Given the description of an element on the screen output the (x, y) to click on. 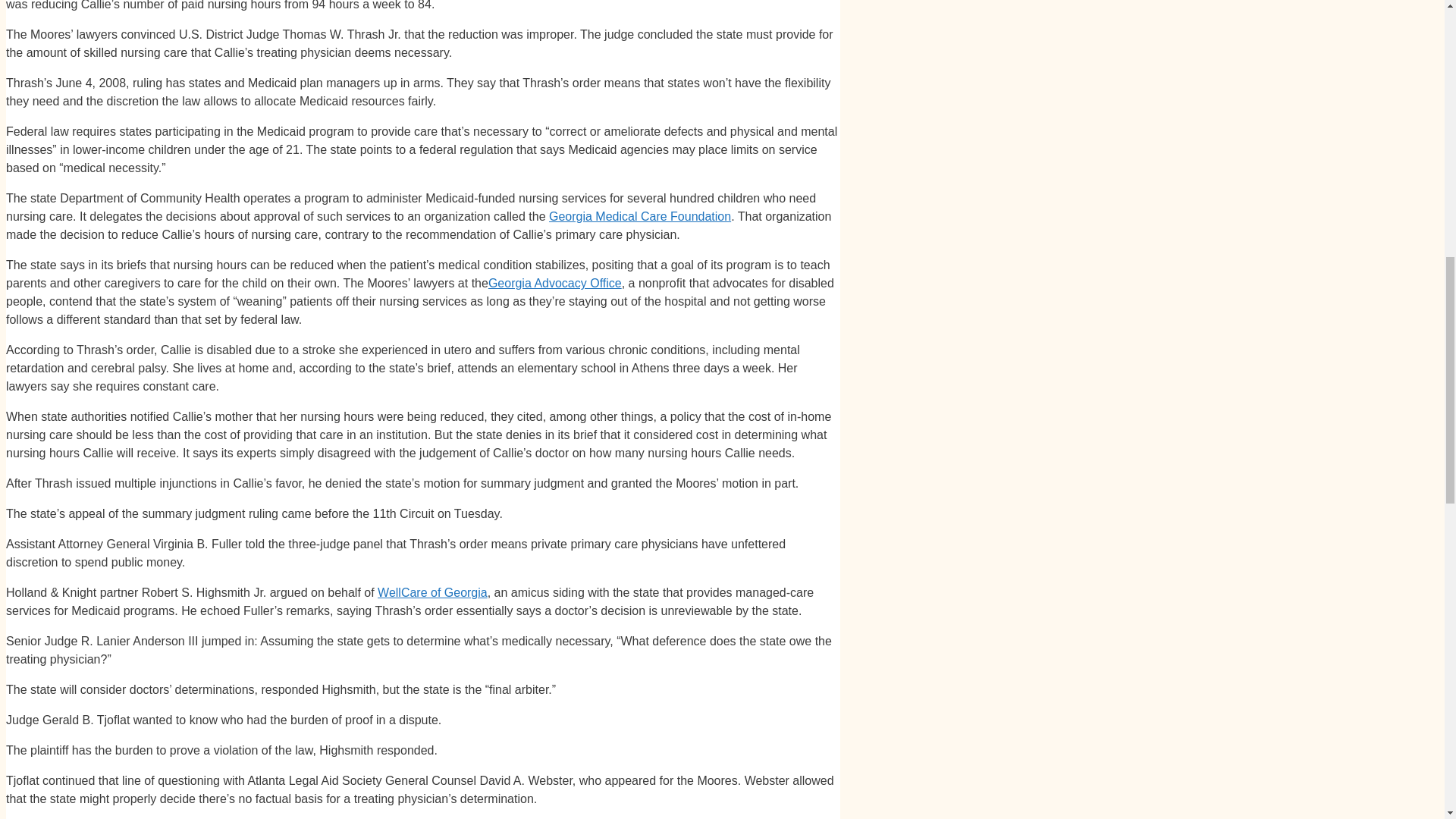
WellCare of Georgia (432, 592)
Georgia Medical Care Foundation (639, 215)
Georgia Advocacy Office (554, 282)
